Given the description of an element on the screen output the (x, y) to click on. 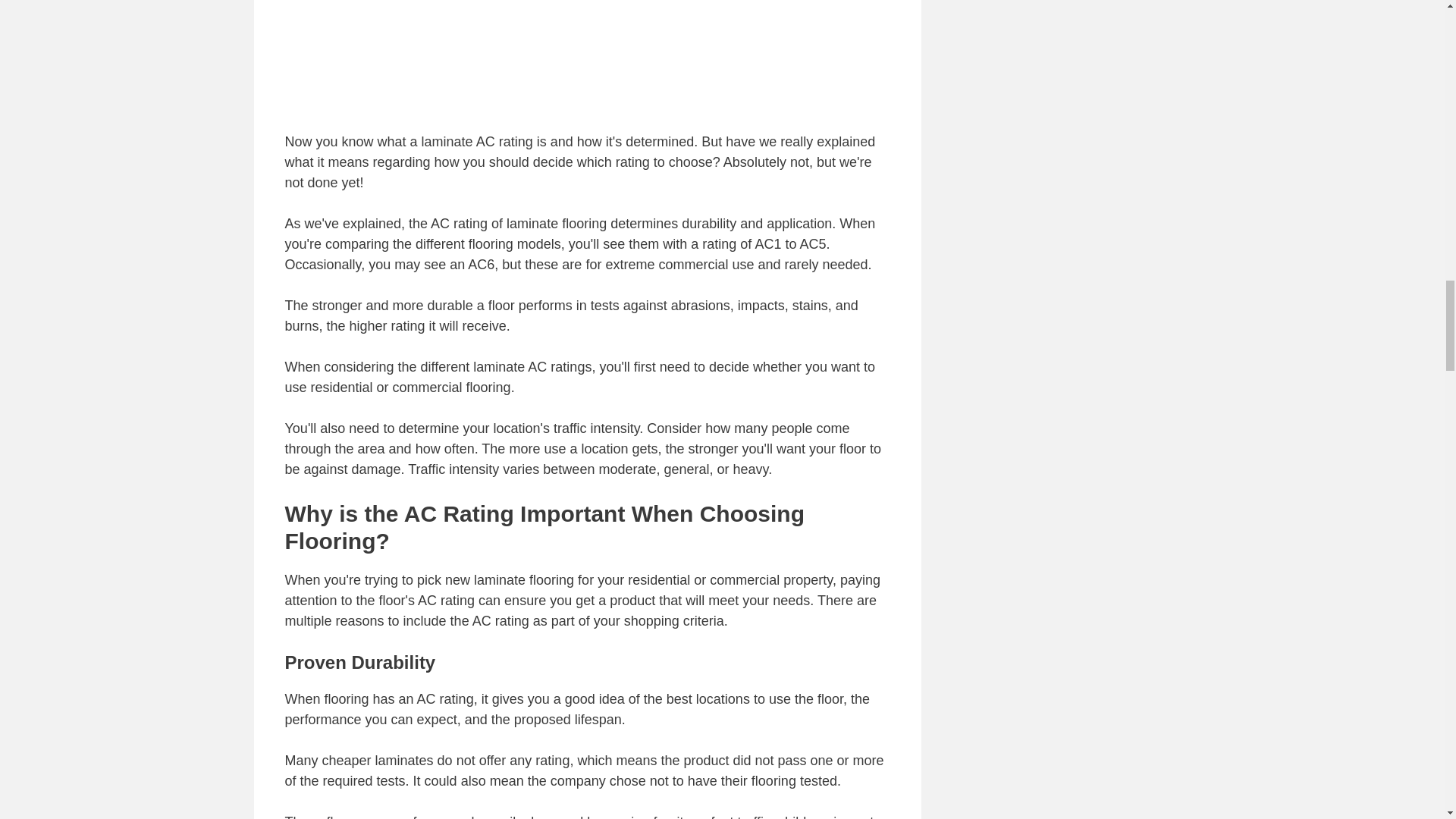
Laminate-AC-rating-explained (587, 58)
